Given the description of an element on the screen output the (x, y) to click on. 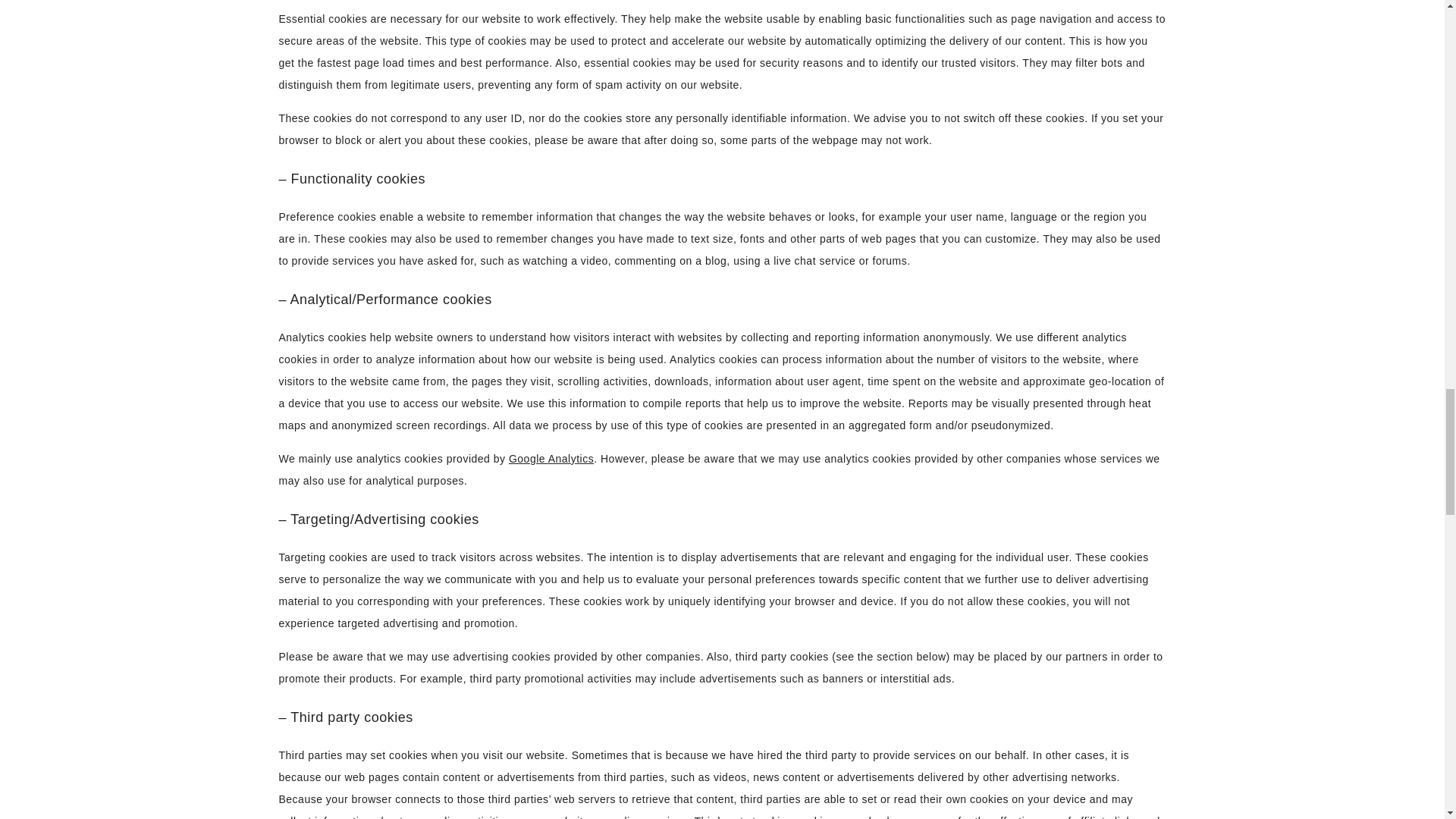
Google Analytics (551, 458)
